Given the description of an element on the screen output the (x, y) to click on. 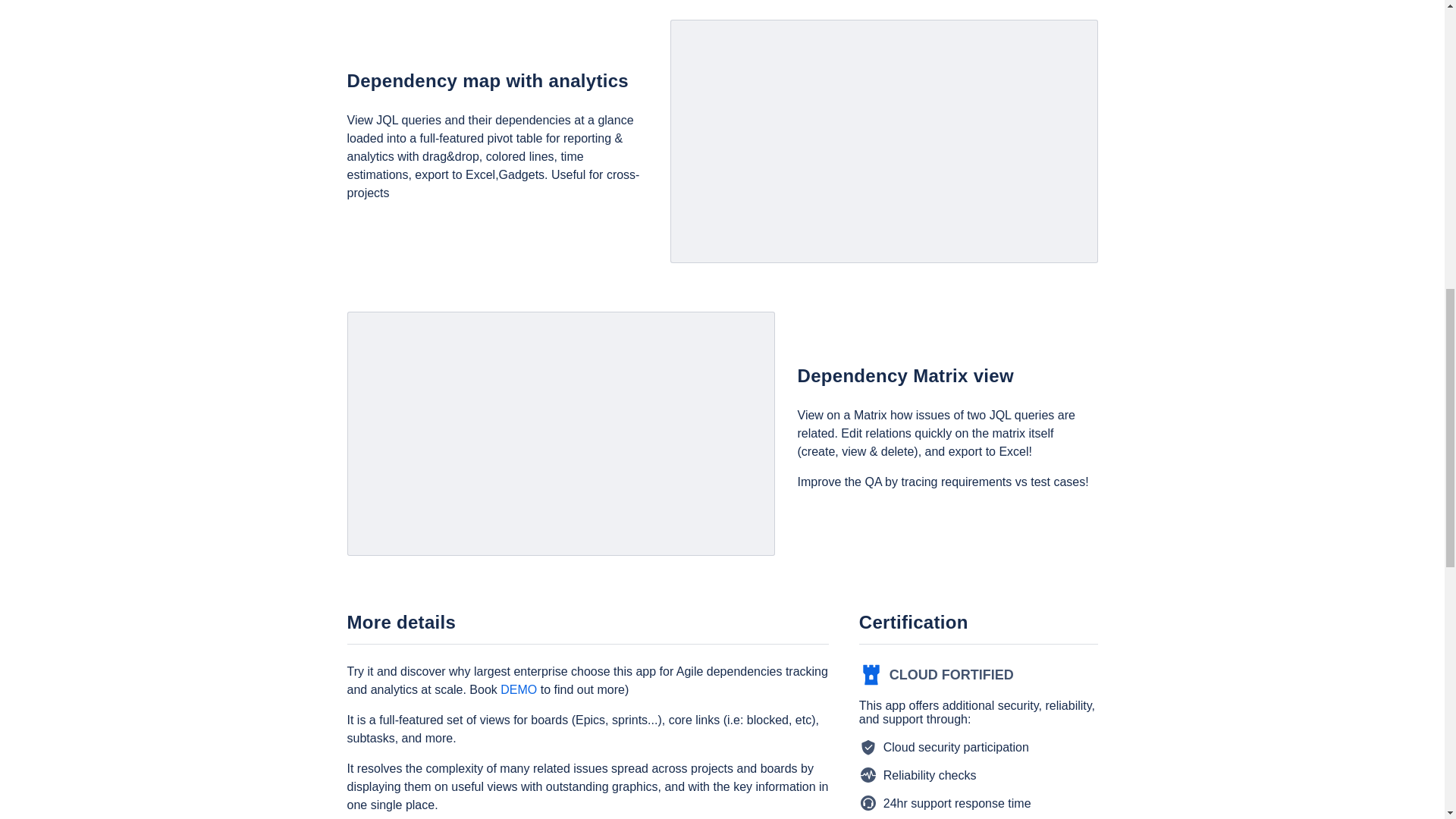
DEMO (518, 689)
